Given the description of an element on the screen output the (x, y) to click on. 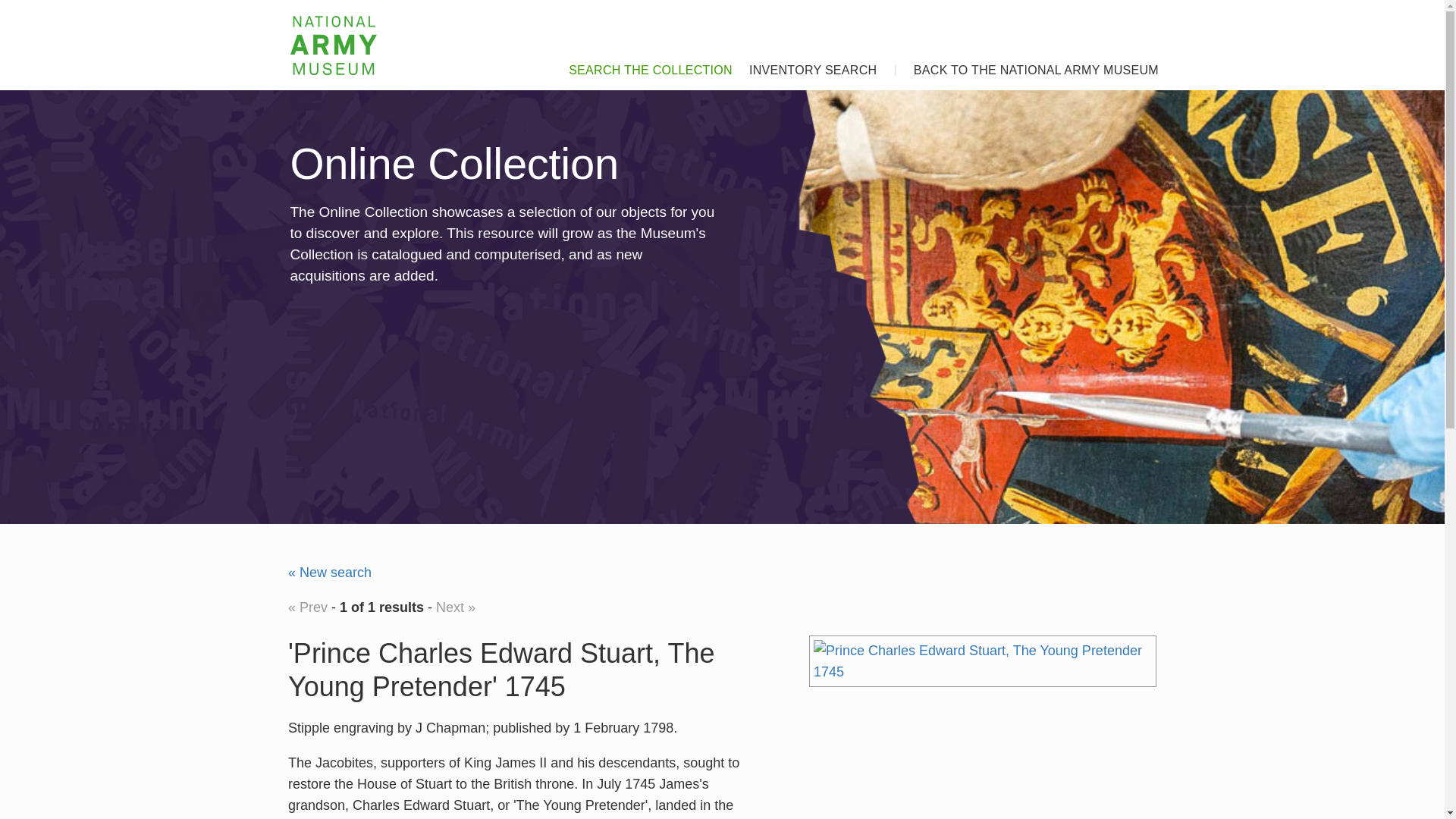
National Army Museum (333, 45)
INVENTORY SEARCH (804, 65)
SEARCH THE COLLECTION (641, 65)
BACK TO THE NATIONAL ARMY MUSEUM (1027, 65)
